Given the description of an element on the screen output the (x, y) to click on. 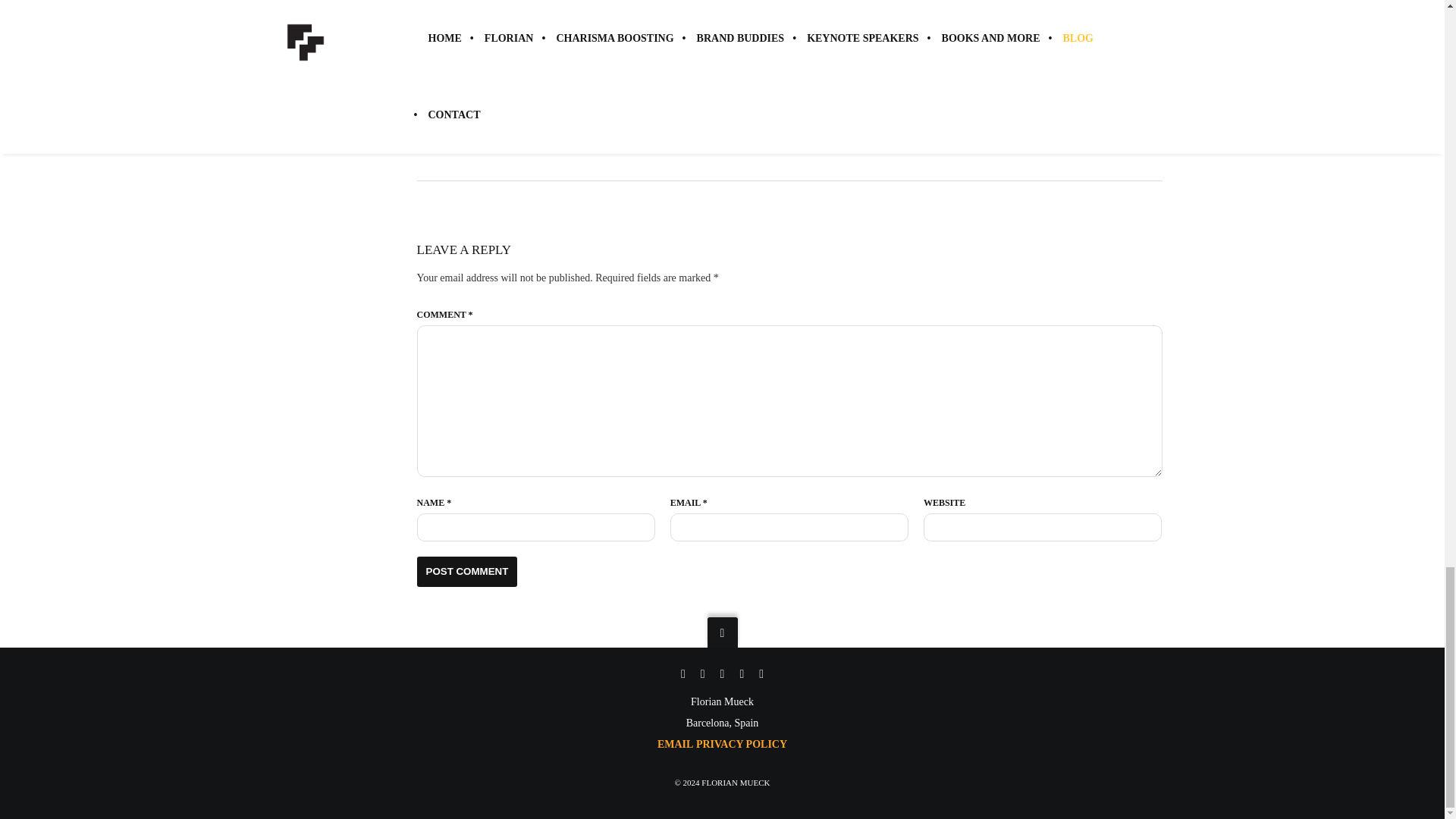
PRIVACY POLICY (741, 744)
EMAIL (675, 744)
Post Comment (467, 571)
Post Comment (467, 571)
